Given the description of an element on the screen output the (x, y) to click on. 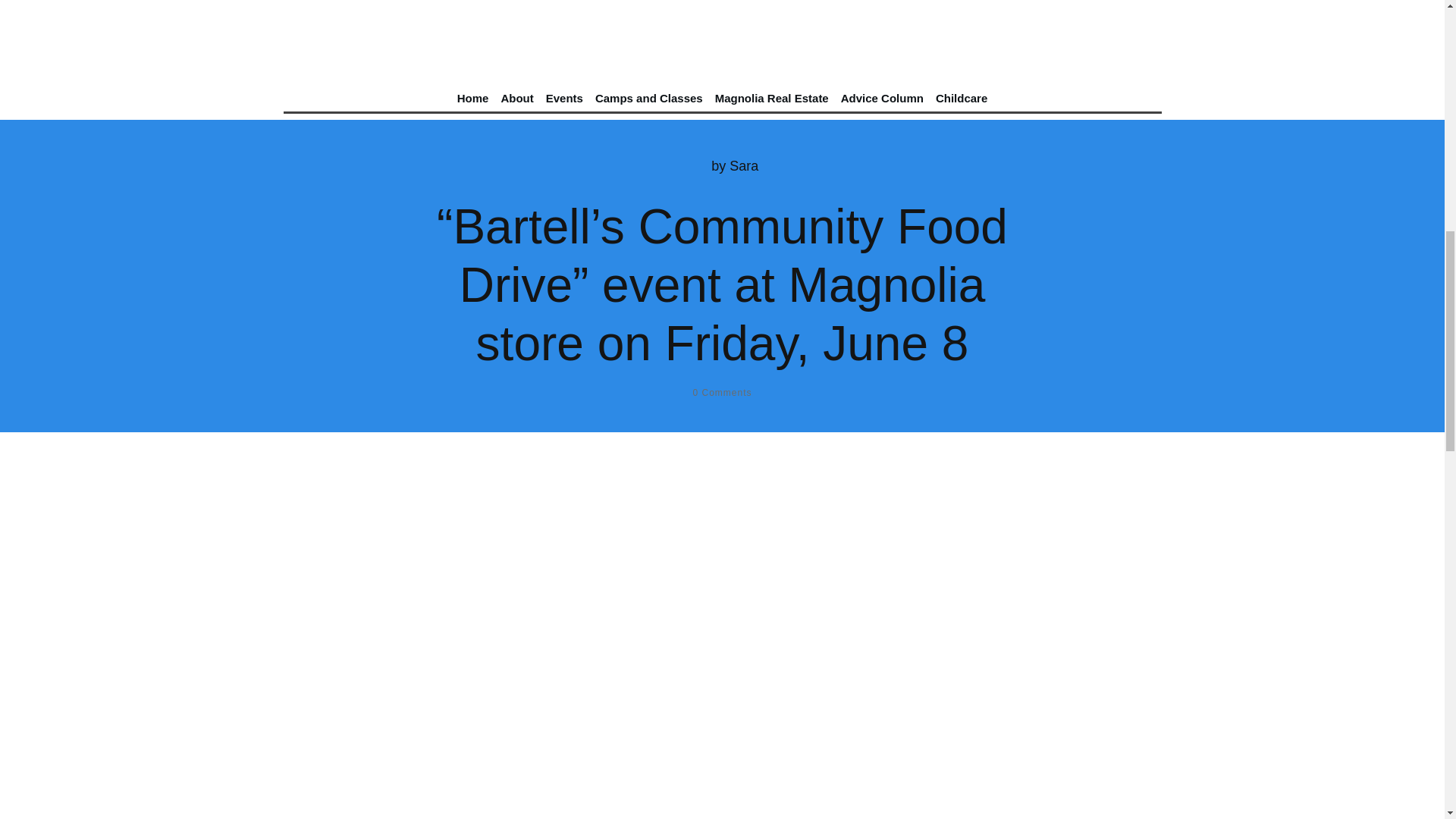
Sara (743, 165)
Events (564, 97)
Camps and Classes (649, 97)
Magnolia Real Estate (771, 97)
Childcare (961, 97)
About (516, 97)
Advice Column (882, 97)
Home (473, 97)
